Given the description of an element on the screen output the (x, y) to click on. 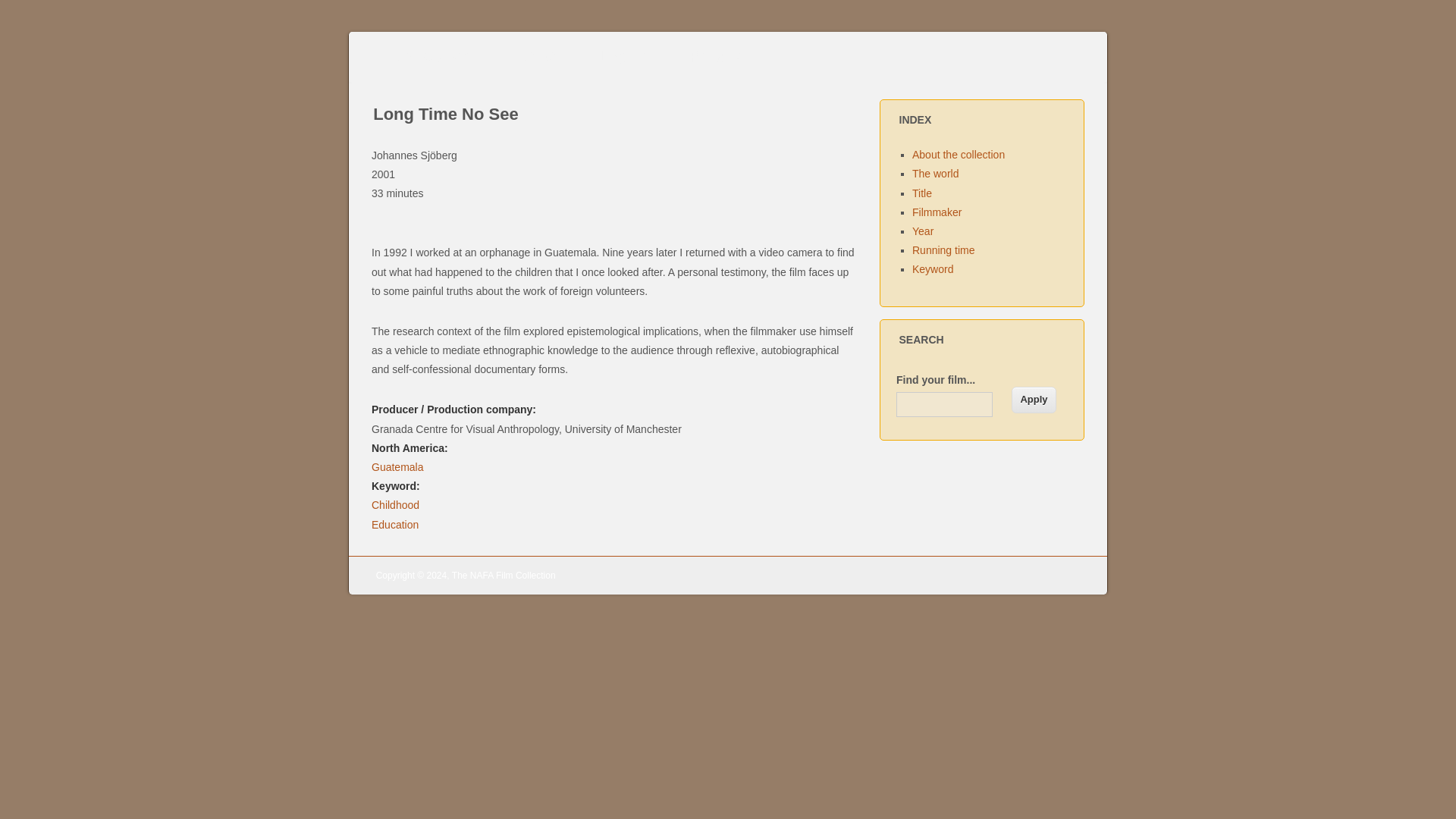
Filmmaker (936, 212)
The world (935, 173)
Year (922, 231)
Apply (1034, 399)
Childhood (395, 504)
Keyword (932, 268)
Title (921, 193)
The NAFA Film Collection (503, 575)
Privacy (718, 56)
Apply (1034, 399)
